Given the description of an element on the screen output the (x, y) to click on. 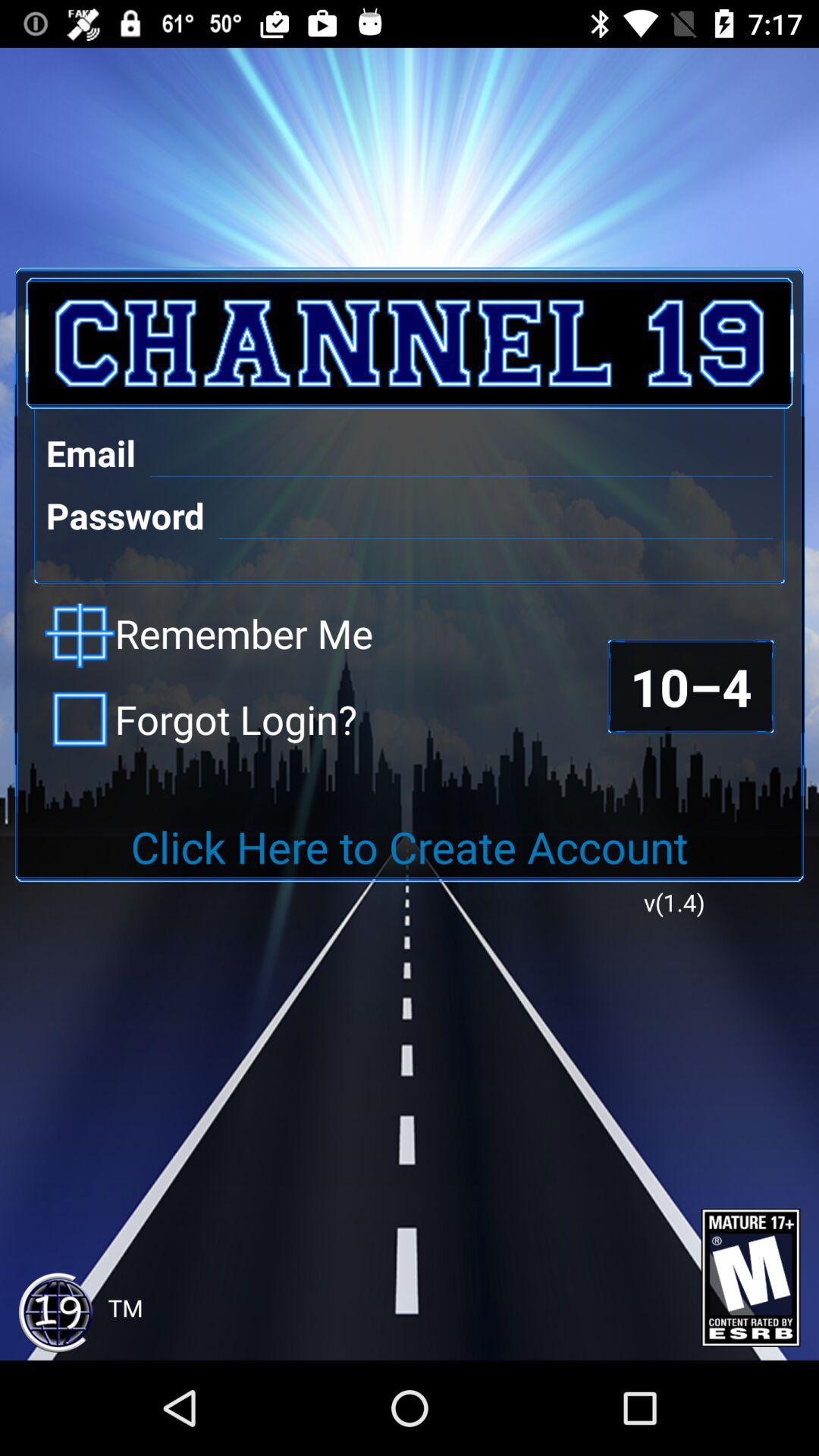
swipe until remember me checkbox (208, 635)
